Given the description of an element on the screen output the (x, y) to click on. 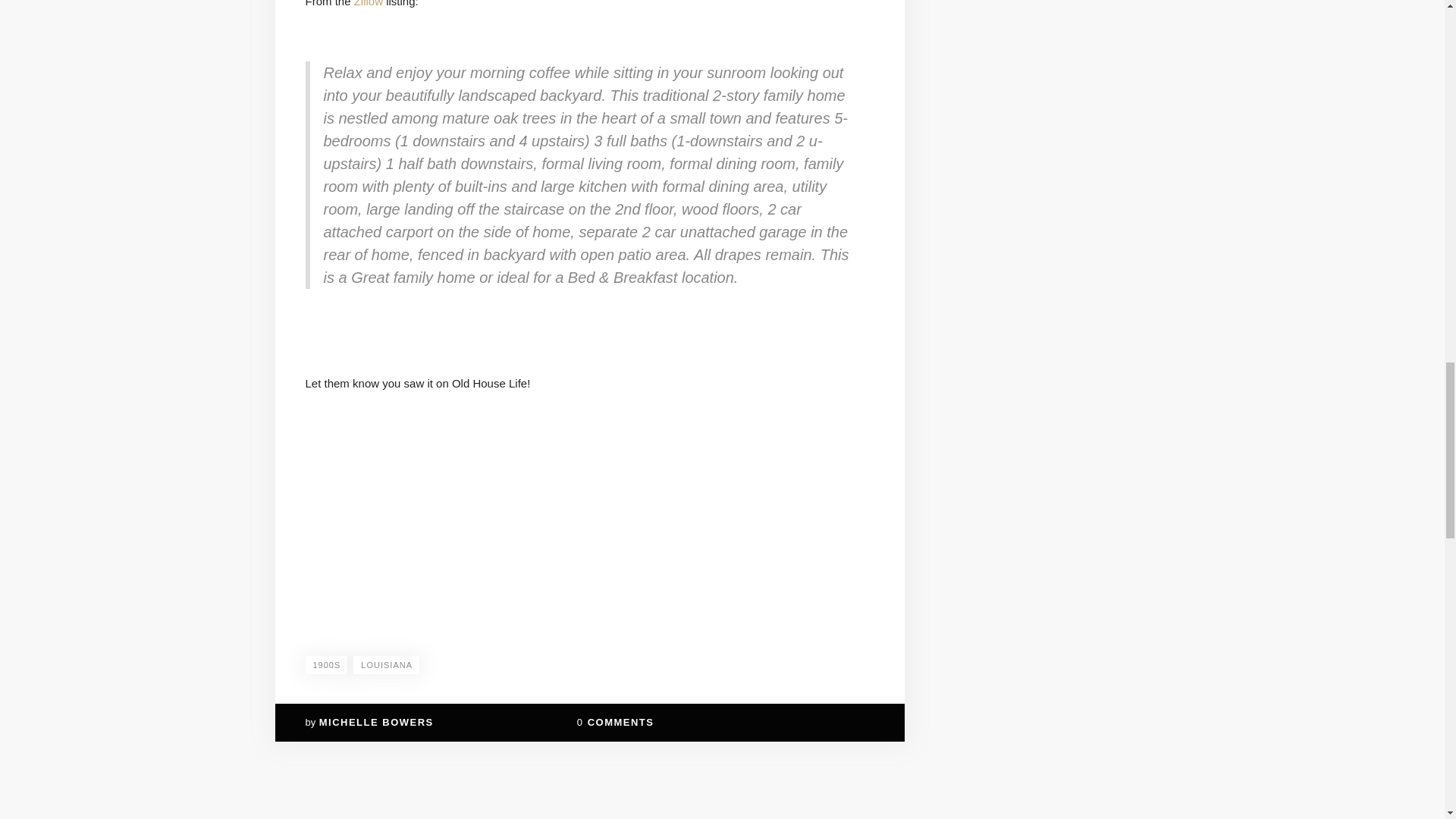
LOUISIANA (386, 665)
0 COMMENTS (614, 722)
Zillow (367, 3)
MICHELLE BOWERS (375, 722)
1900S (325, 665)
